Given the description of an element on the screen output the (x, y) to click on. 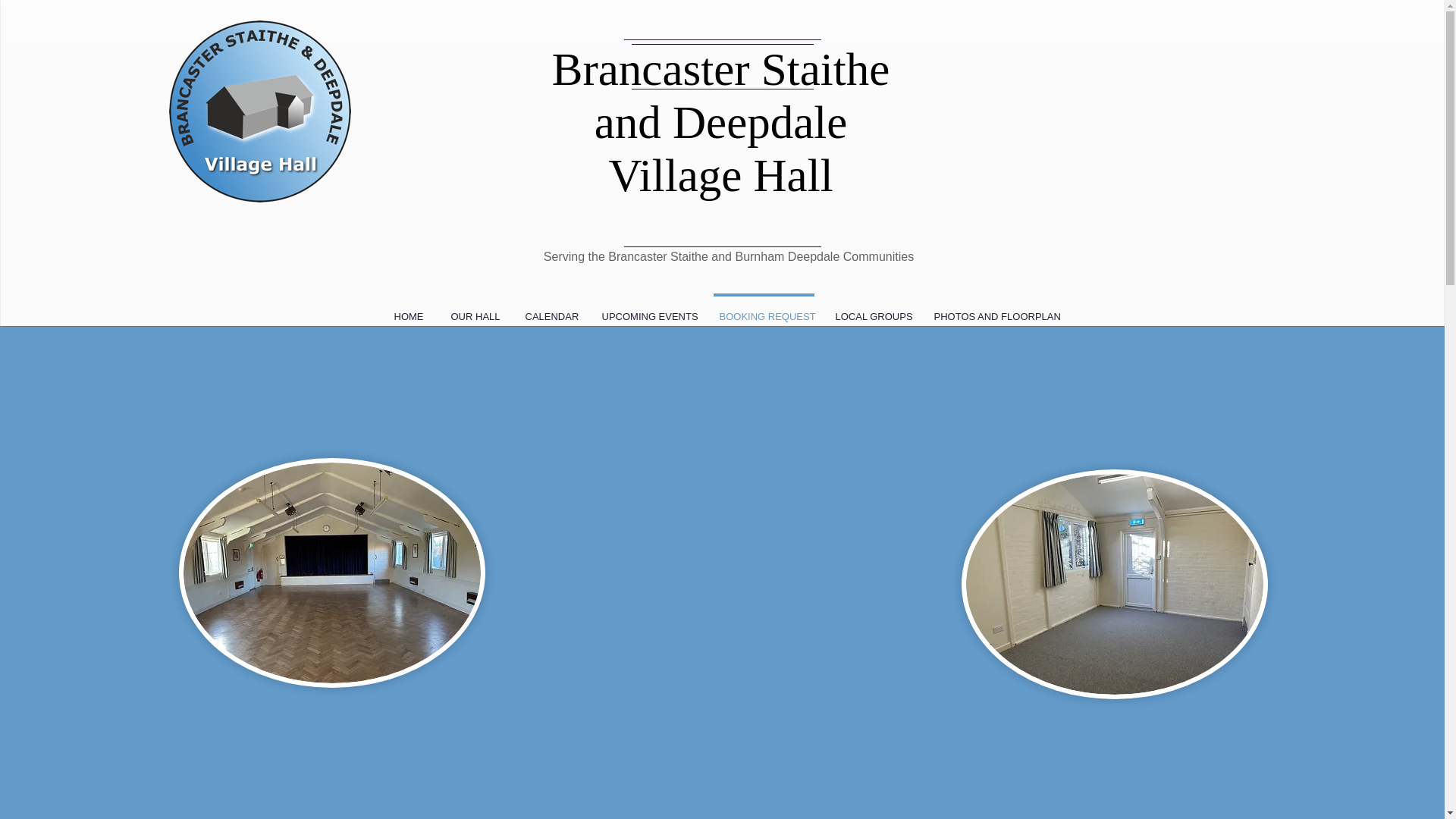
OUR HALL (473, 309)
Brancaster Staithe and Deepdale Village Hall (720, 122)
PHOTOS AND FLOORPLAN (994, 309)
LOCAL GROUPS (871, 309)
HOME (409, 309)
UPCOMING EVENTS (647, 309)
BOOKING REQUEST (762, 309)
CALENDAR (549, 309)
